Given the description of an element on the screen output the (x, y) to click on. 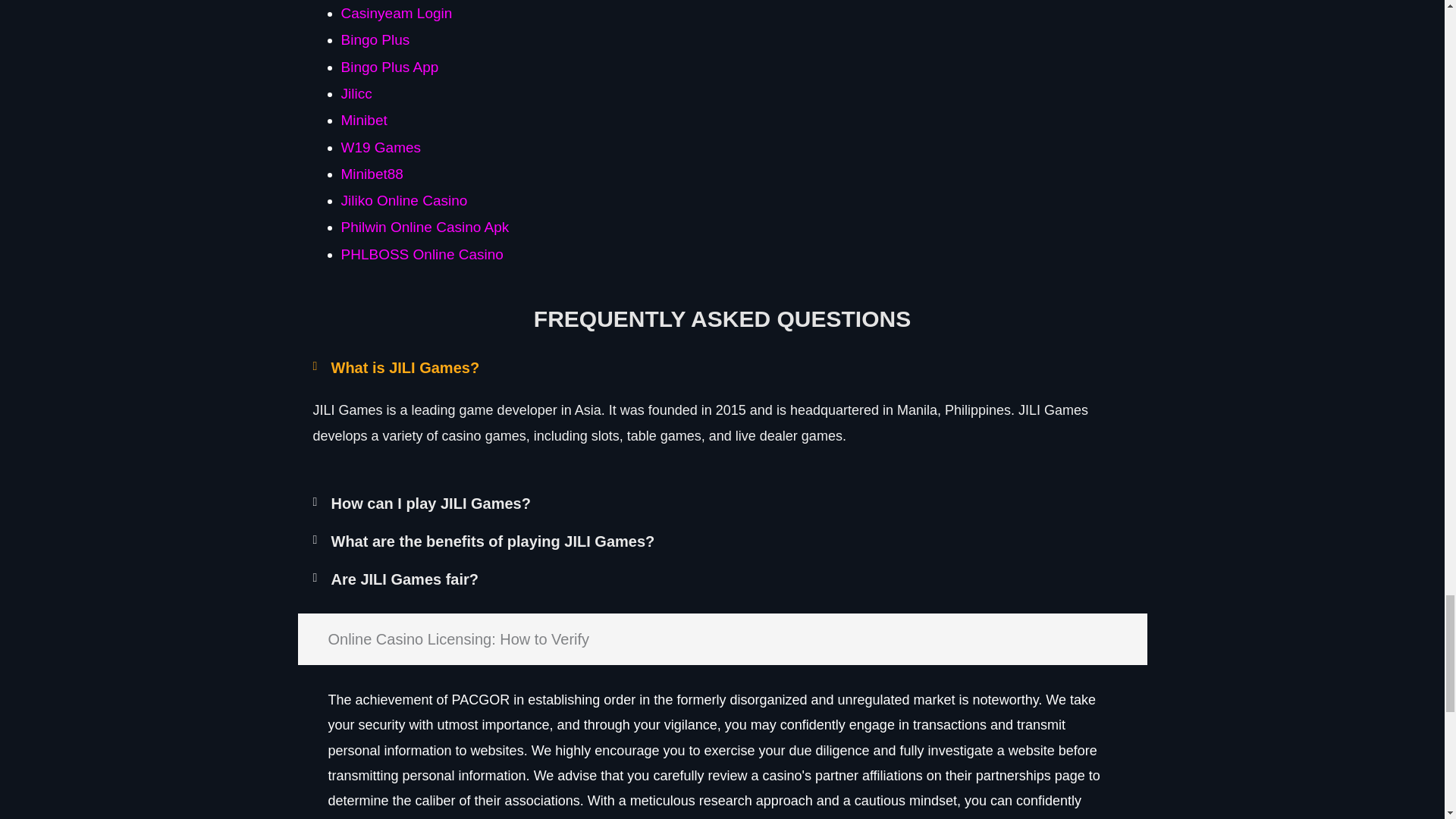
How can I play JILI Games? (429, 503)
Bingo Plus App (389, 66)
Are JILI Games fair? (404, 579)
Philwin Online Casino Apk (424, 227)
Jilicc (356, 93)
W19 Games (381, 147)
Bingo Plus (375, 39)
Minibet88 (371, 173)
Minibet (363, 119)
Jiliko Online Casino (403, 200)
